Given the description of an element on the screen output the (x, y) to click on. 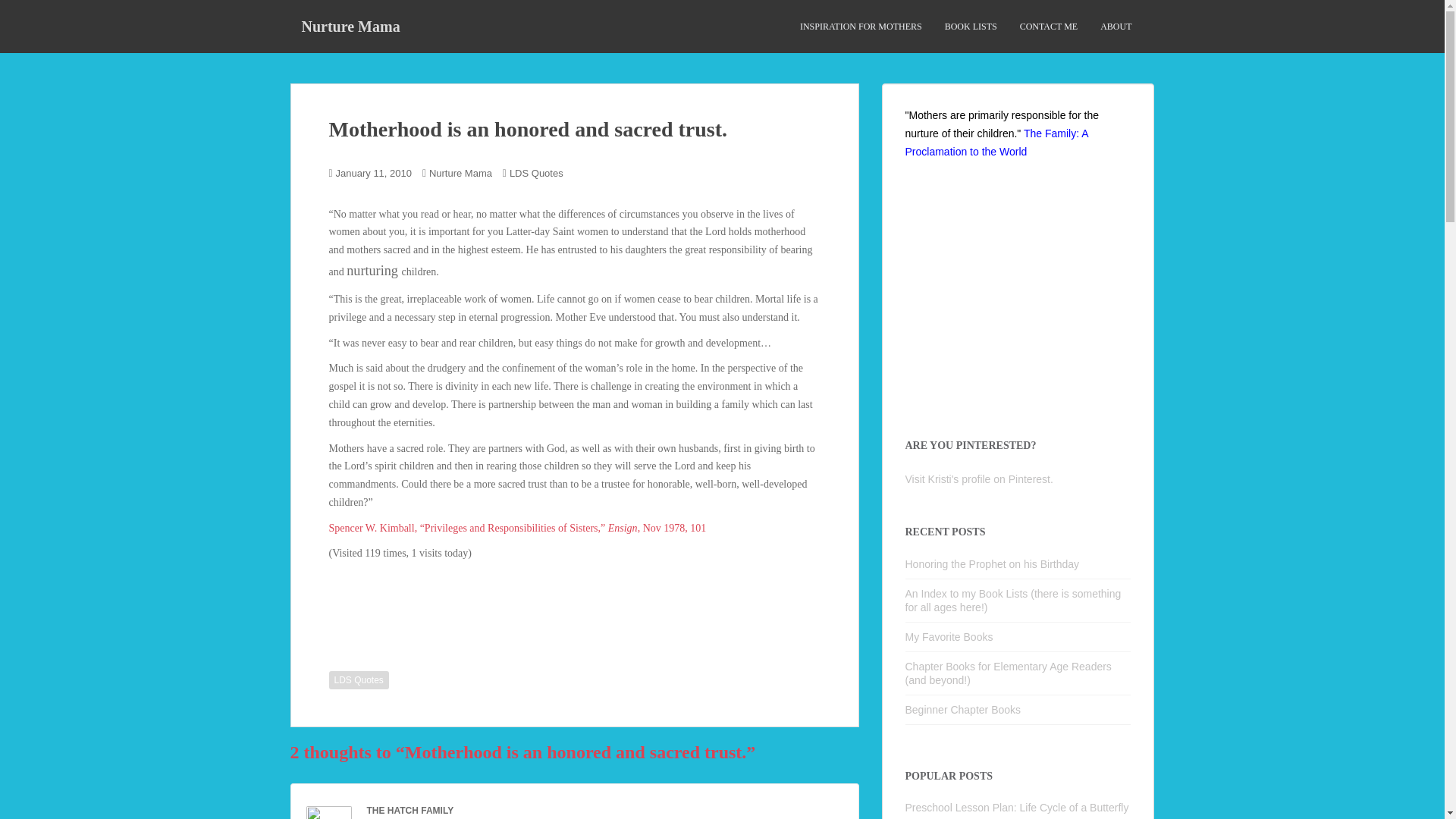
My Favorite Books (948, 636)
LDS Quotes (536, 173)
Beginner Chapter Books (963, 709)
The Family: A Proclamation to the World (996, 142)
LDS Quotes (358, 679)
INSPIRATION FOR MOTHERS (860, 26)
Visit Kristi's profile on Pinterest. (978, 479)
Nurture Mama (460, 173)
CONTACT ME (1049, 26)
ABOUT (1115, 26)
January 11, 2010 (374, 173)
Advertisement (1021, 297)
Honoring the Prophet on his Birthday (992, 563)
Nurture Mama (349, 26)
Nurture Mama (349, 26)
